Given the description of an element on the screen output the (x, y) to click on. 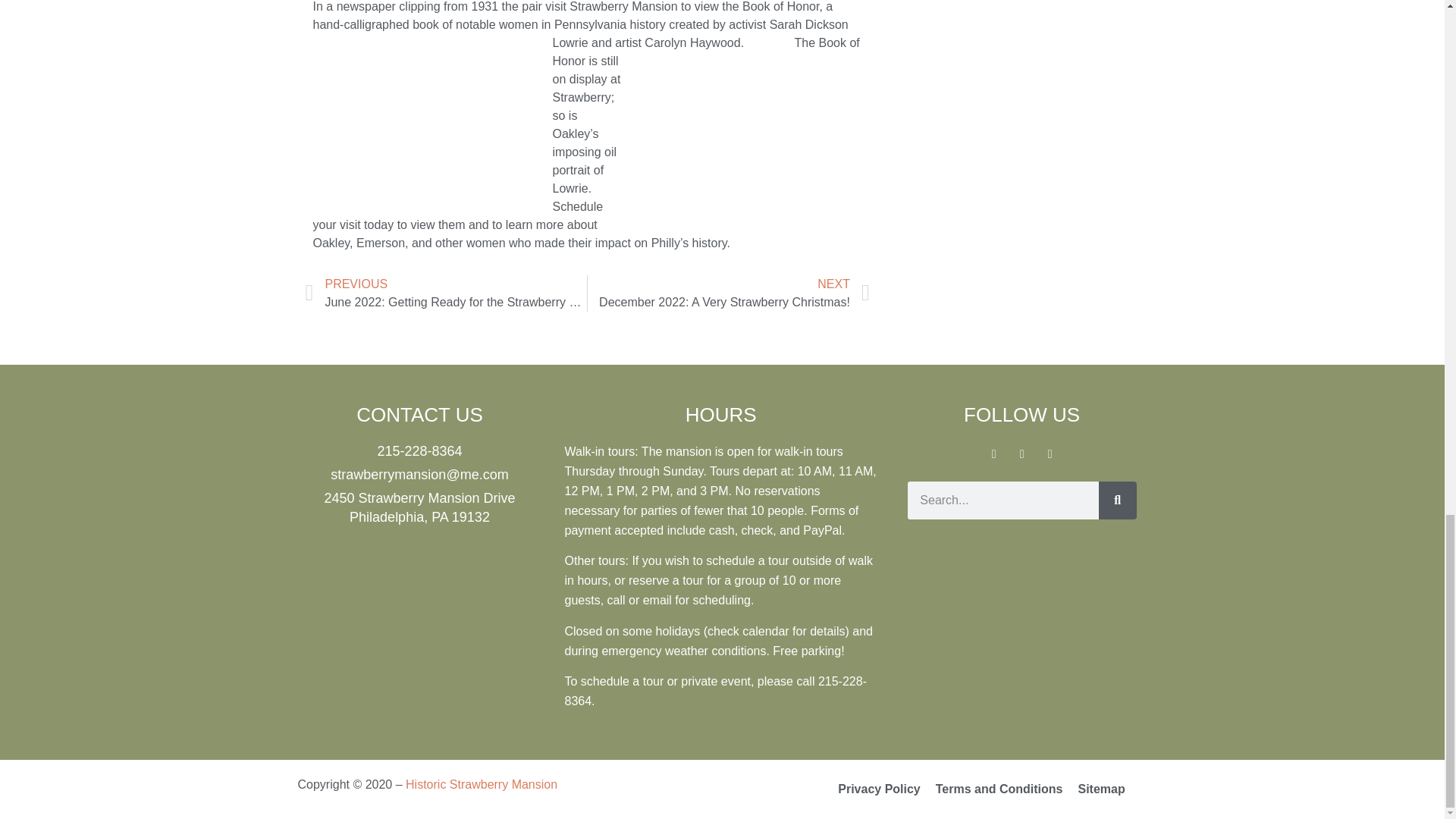
215-228-8364 (728, 293)
Historic Strawberry Mansion (419, 451)
